Given the description of an element on the screen output the (x, y) to click on. 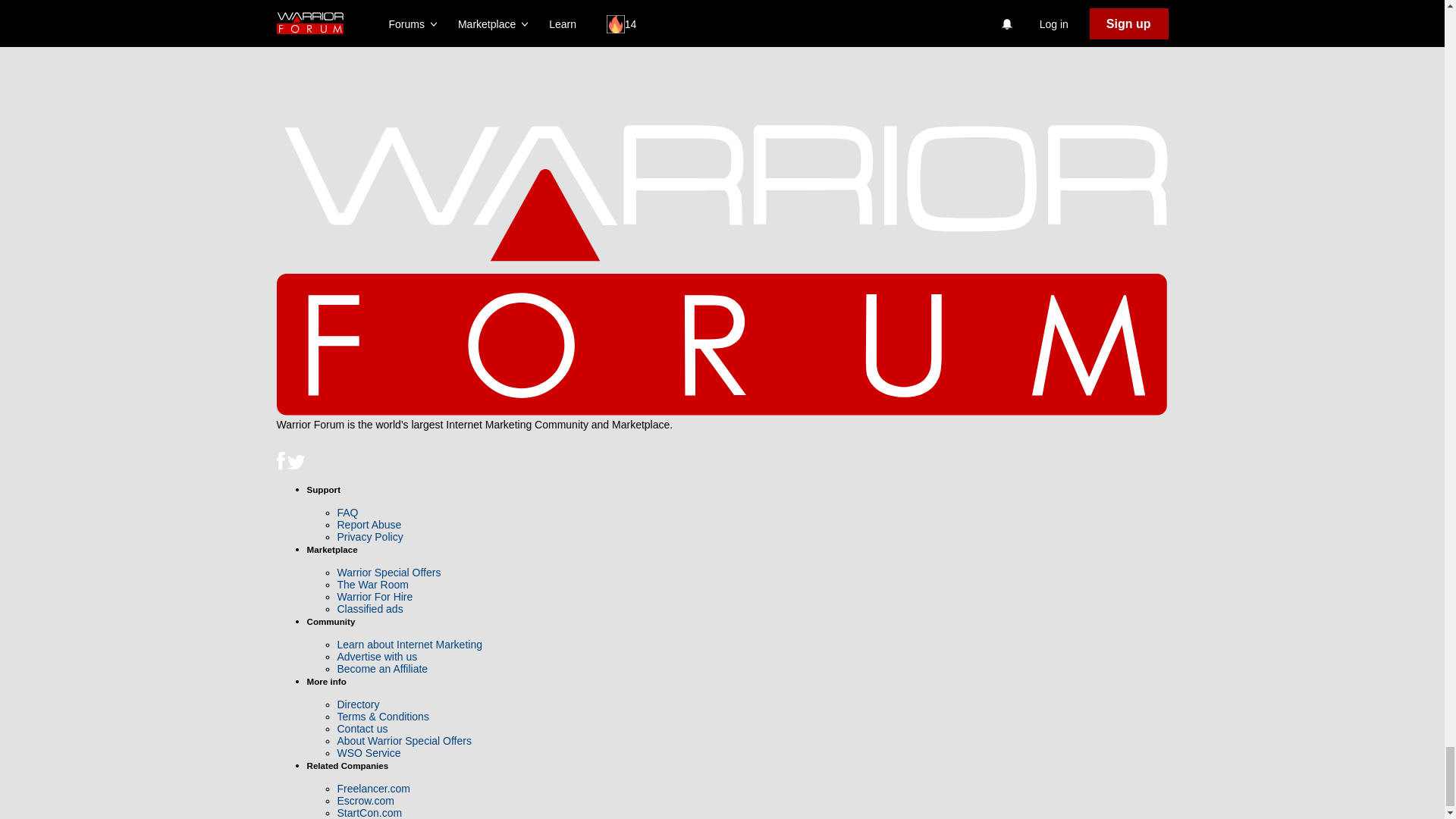
Warrior Forum on Twitter (295, 466)
Warrior Forum on Facebook (281, 466)
Bird (295, 462)
